Given the description of an element on the screen output the (x, y) to click on. 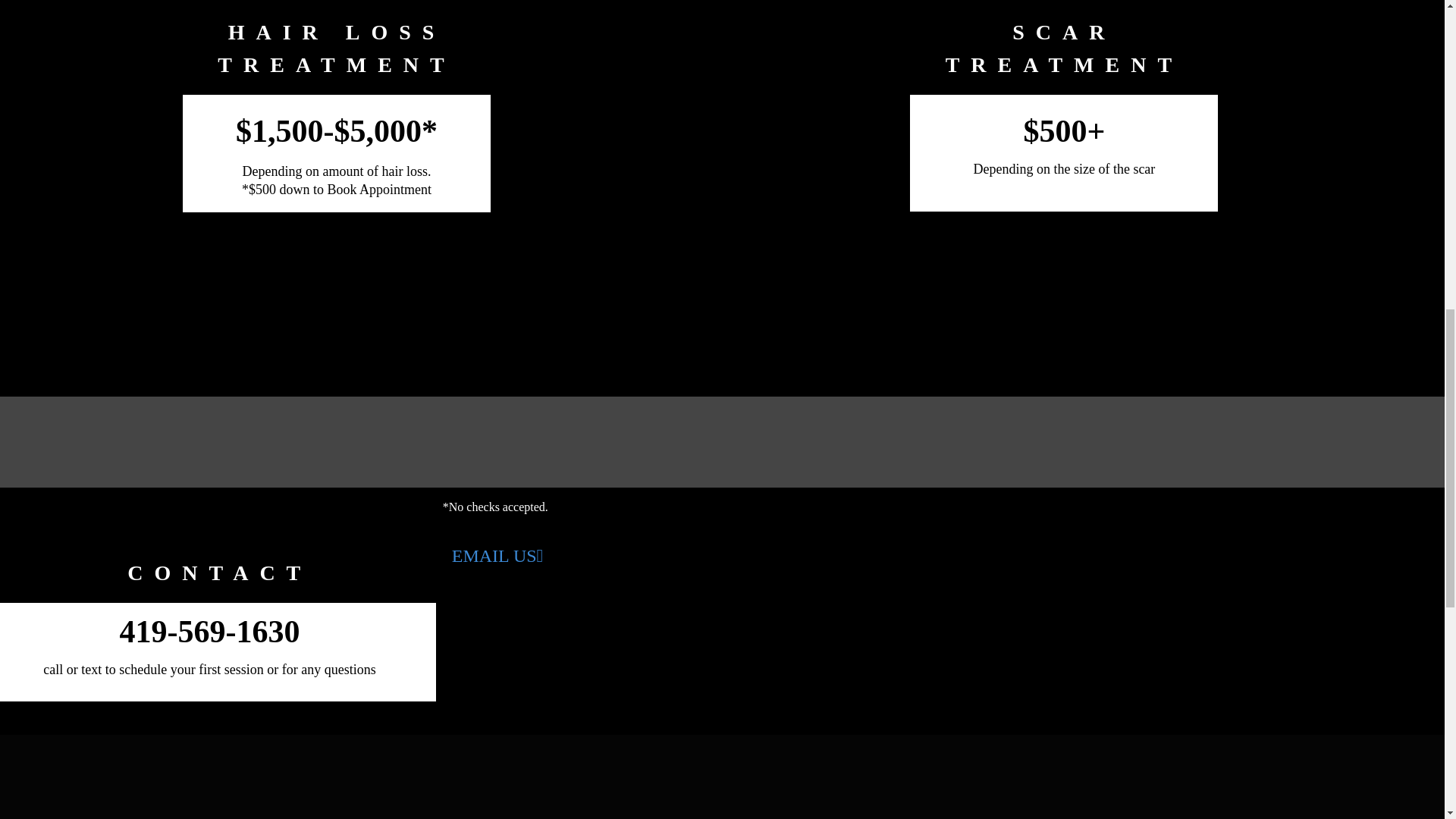
419-569-1630 (209, 631)
star (219, 503)
EMAIL US (497, 555)
